Given the description of an element on the screen output the (x, y) to click on. 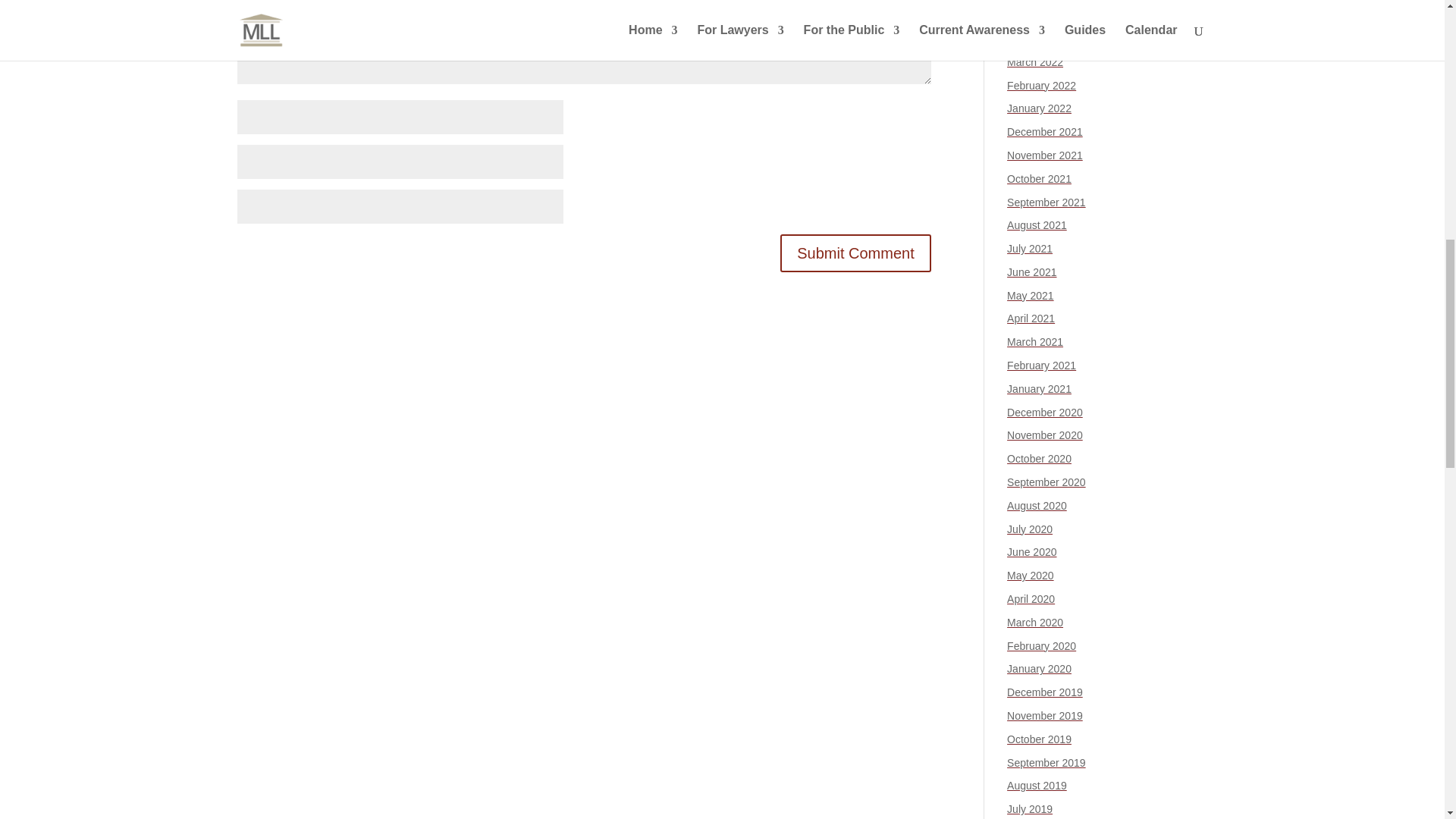
Submit Comment (855, 252)
